Given the description of an element on the screen output the (x, y) to click on. 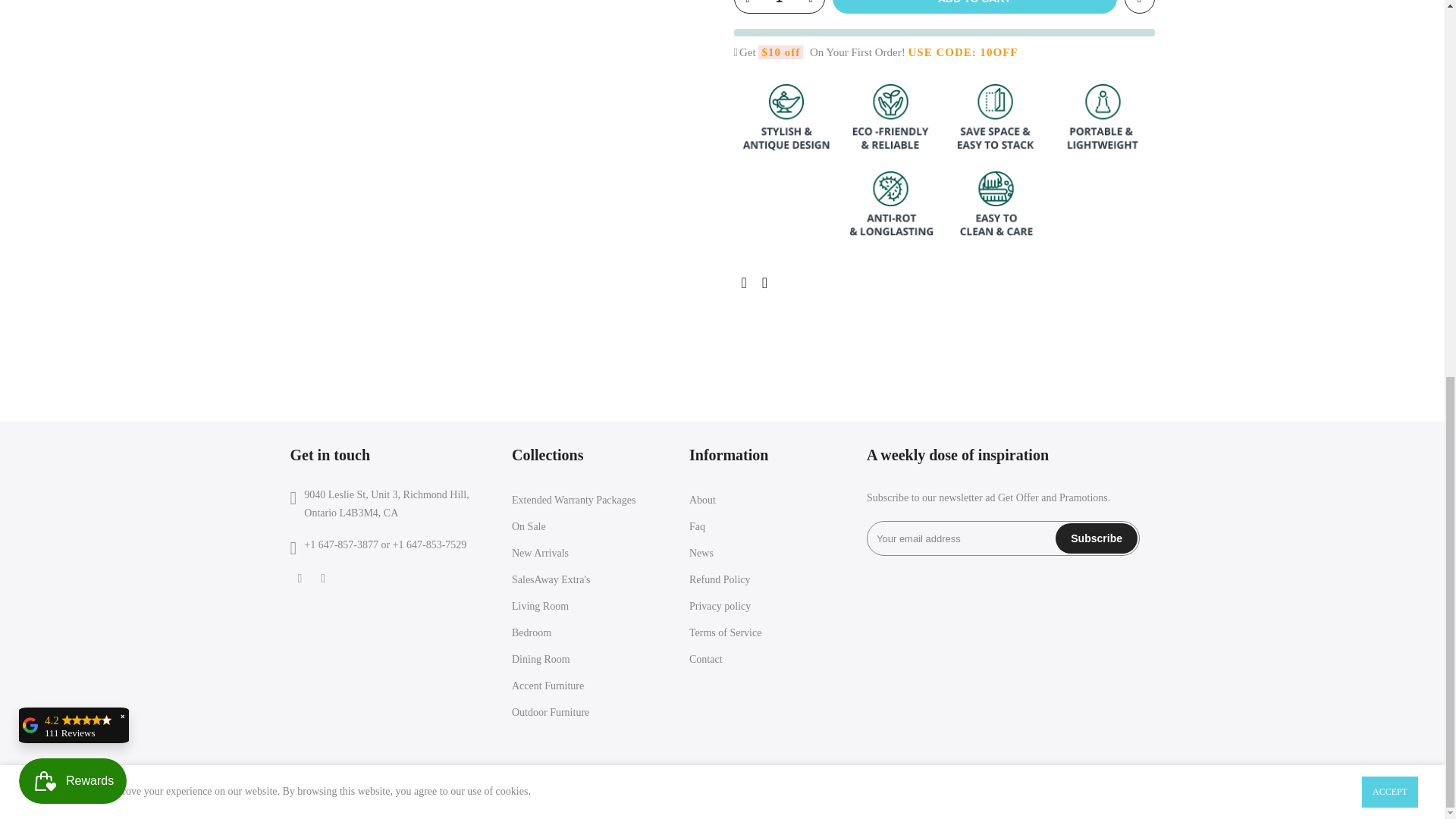
Refund Policy (719, 579)
Outdoor Furniture (550, 712)
About (702, 500)
1 (990, 158)
On Sale (529, 526)
Dining Room (541, 659)
Extended Warranty Packages (573, 500)
Privacy policy (719, 605)
ADD TO CART (974, 6)
Bedroom (531, 632)
New Arrivals (540, 552)
Terms of Service (724, 632)
Smile.io Rewards Program Launcher (72, 85)
Accent Furniture (547, 685)
News (700, 552)
